Given the description of an element on the screen output the (x, y) to click on. 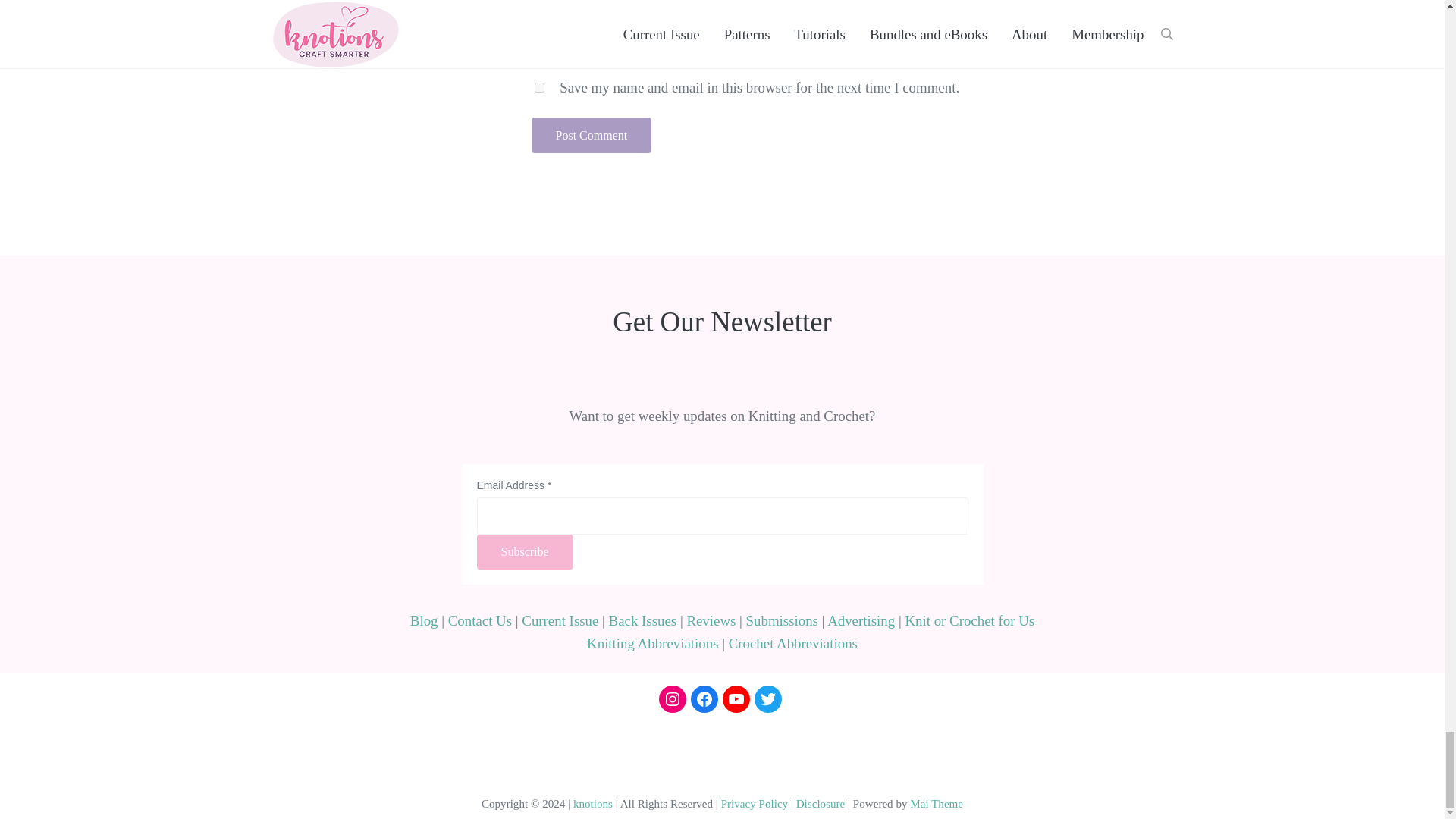
Blog (424, 620)
Subscribe (524, 551)
Subscribe (524, 551)
yes (538, 87)
Post Comment (590, 134)
Post Comment (590, 134)
